Given the description of an element on the screen output the (x, y) to click on. 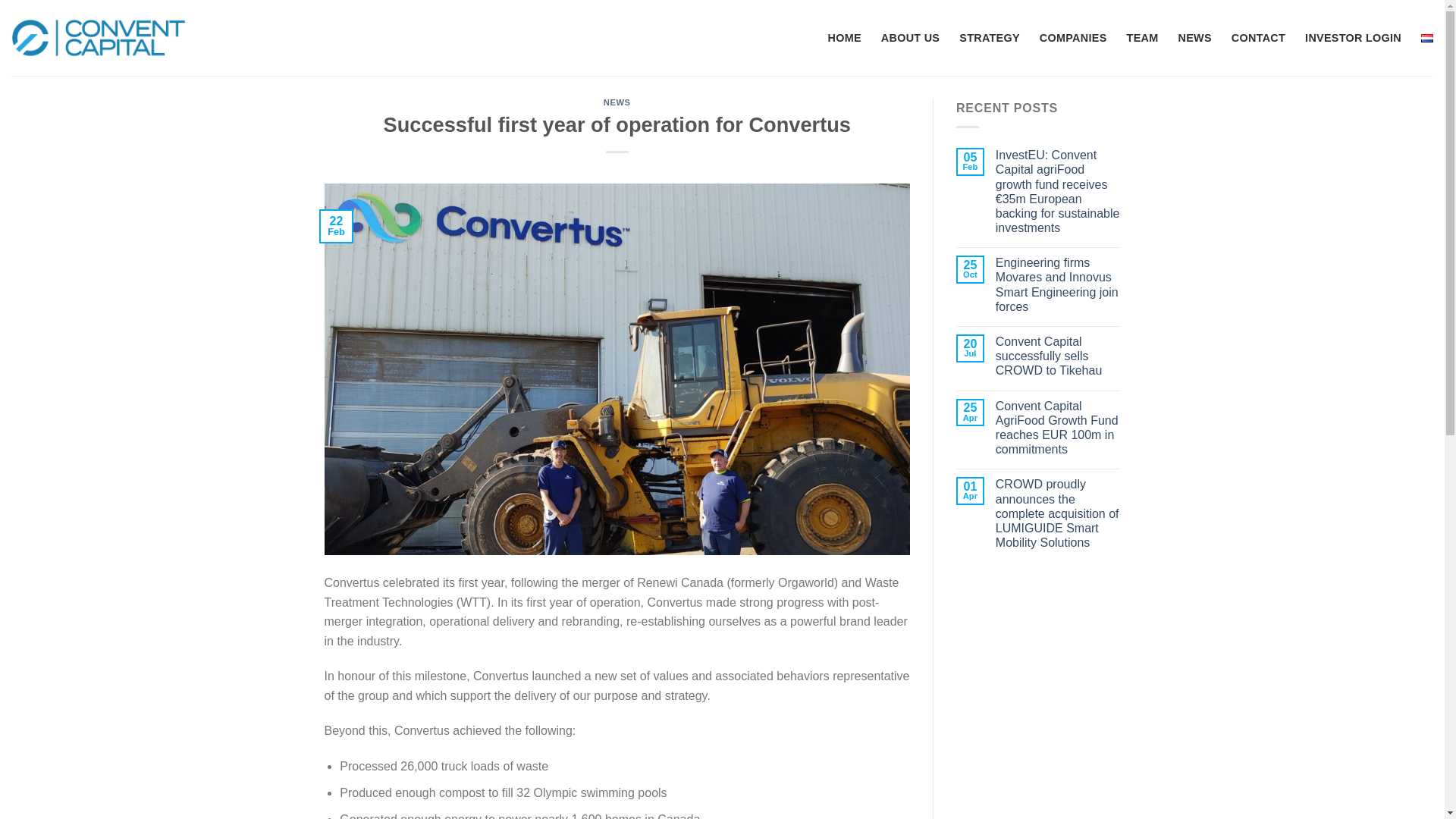
ABOUT US (909, 37)
NEWS (617, 102)
CONTACT (1258, 37)
TEAM (1142, 37)
HOME (843, 37)
INVESTOR LOGIN (1352, 37)
NEWS (1194, 37)
COMPANIES (1072, 37)
Convent Capital successfully sells CROWD to Tikehau (1058, 356)
